Given the description of an element on the screen output the (x, y) to click on. 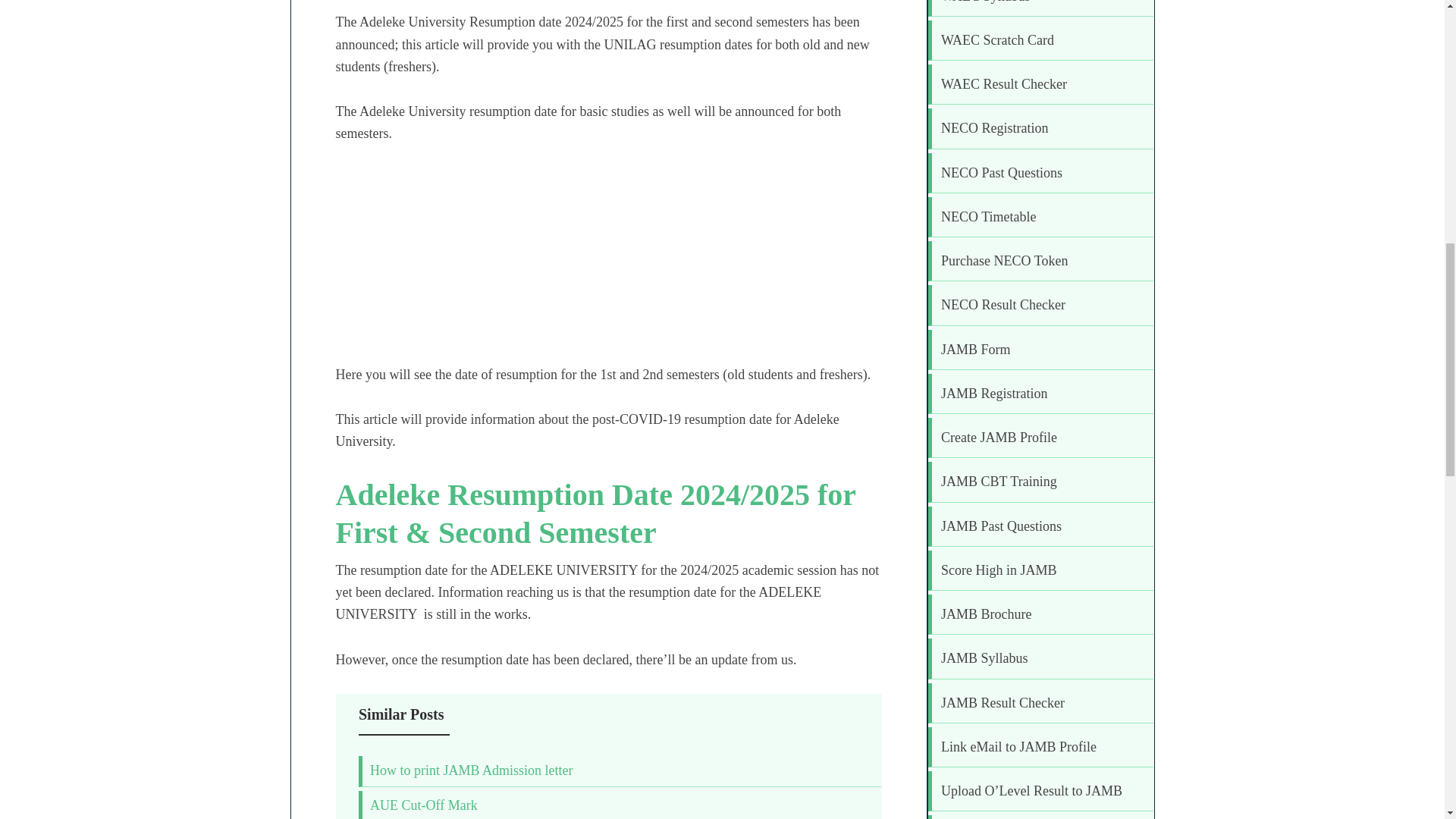
AUE Cut-Off Mark (423, 805)
How to print JAMB Admission letter (471, 770)
